Given the description of an element on the screen output the (x, y) to click on. 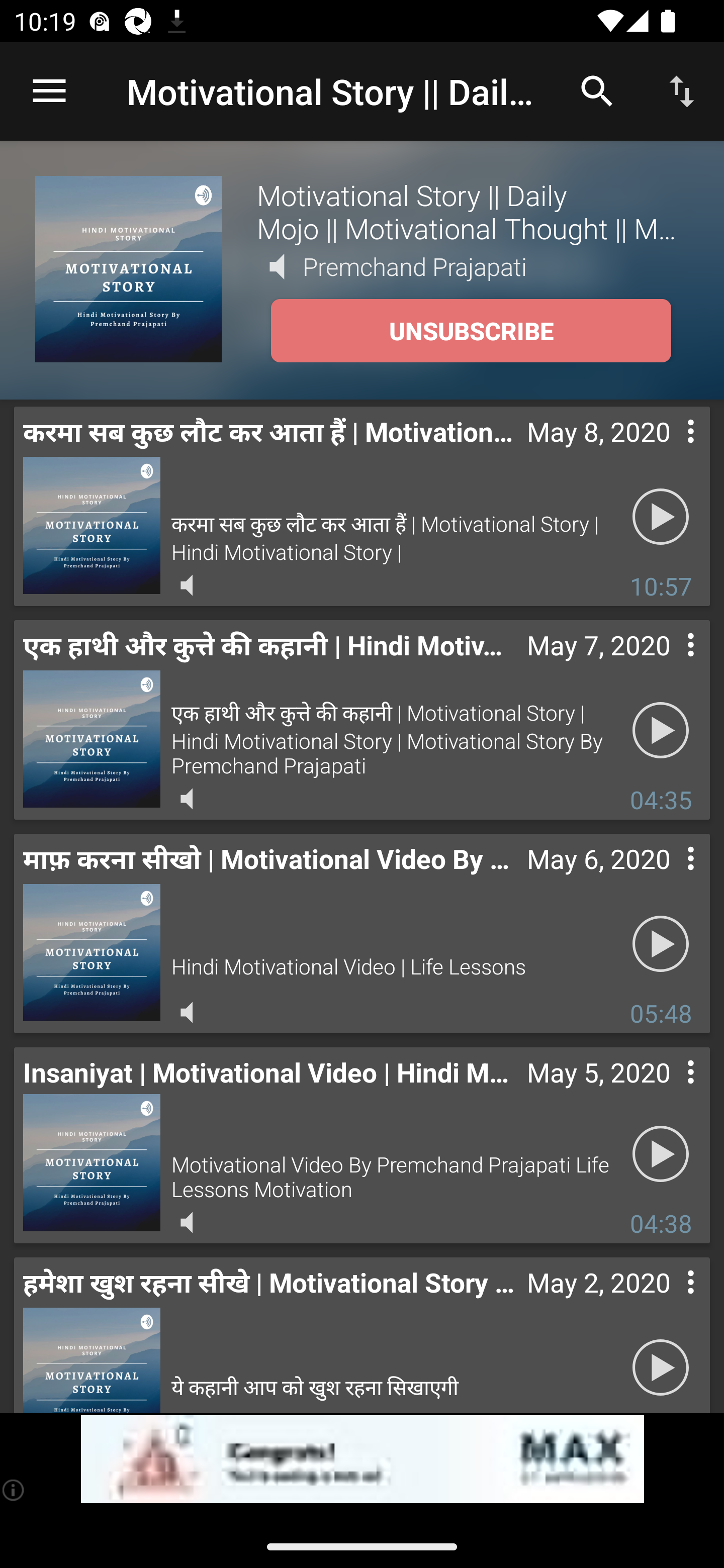
Open navigation sidebar (49, 91)
Search (597, 90)
Sort (681, 90)
UNSUBSCRIBE (470, 330)
Contextual menu (668, 451)
Play (660, 516)
Contextual menu (668, 665)
Play (660, 729)
Contextual menu (668, 878)
Play (660, 943)
Contextual menu (668, 1091)
Play (660, 1152)
Contextual menu (668, 1301)
Play (660, 1365)
app-monetization (362, 1459)
(i) (14, 1489)
